Given the description of an element on the screen output the (x, y) to click on. 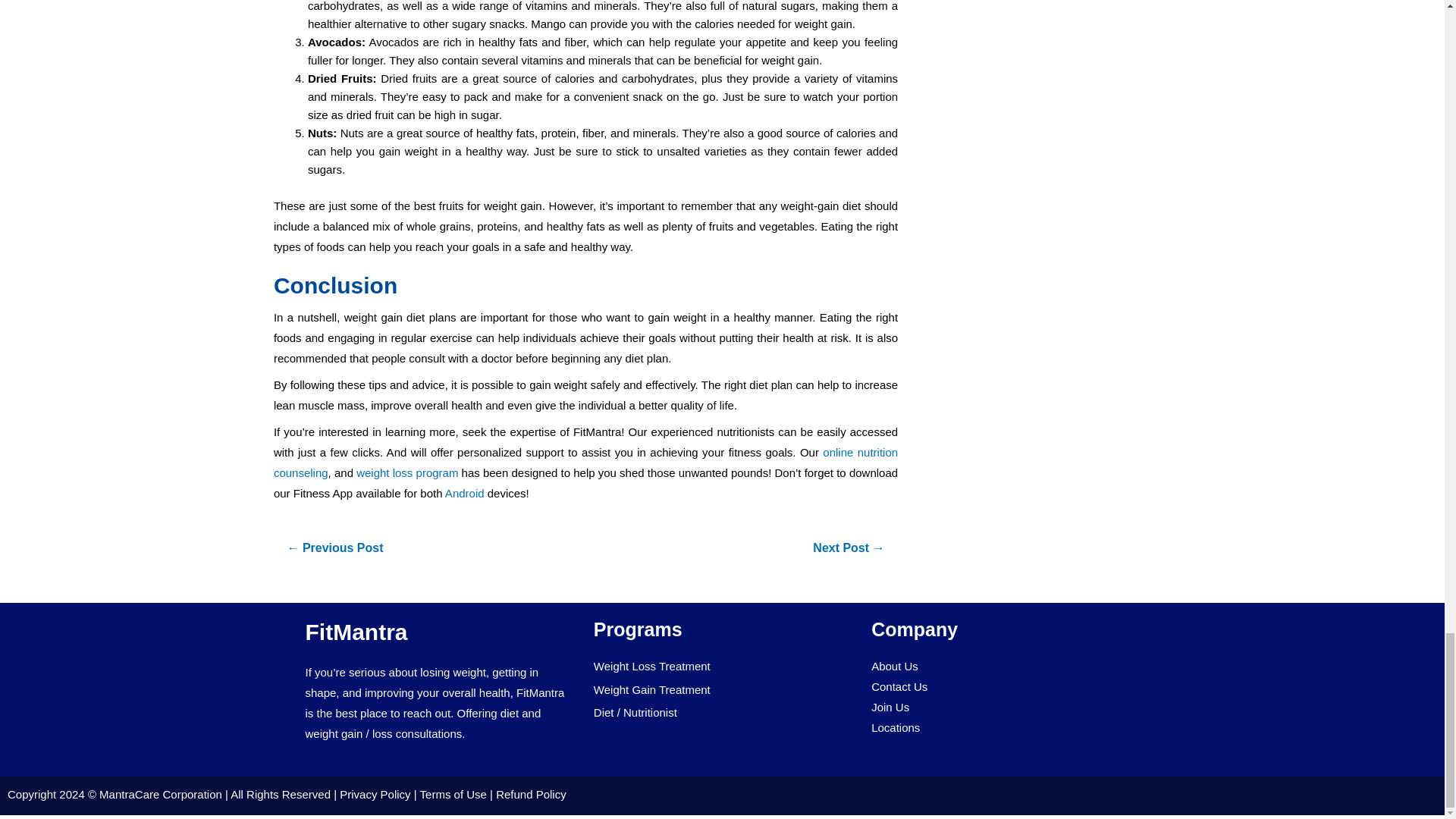
 online nutrition counseling (585, 462)
 Android (463, 492)
weight loss program (407, 472)
